Given the description of an element on the screen output the (x, y) to click on. 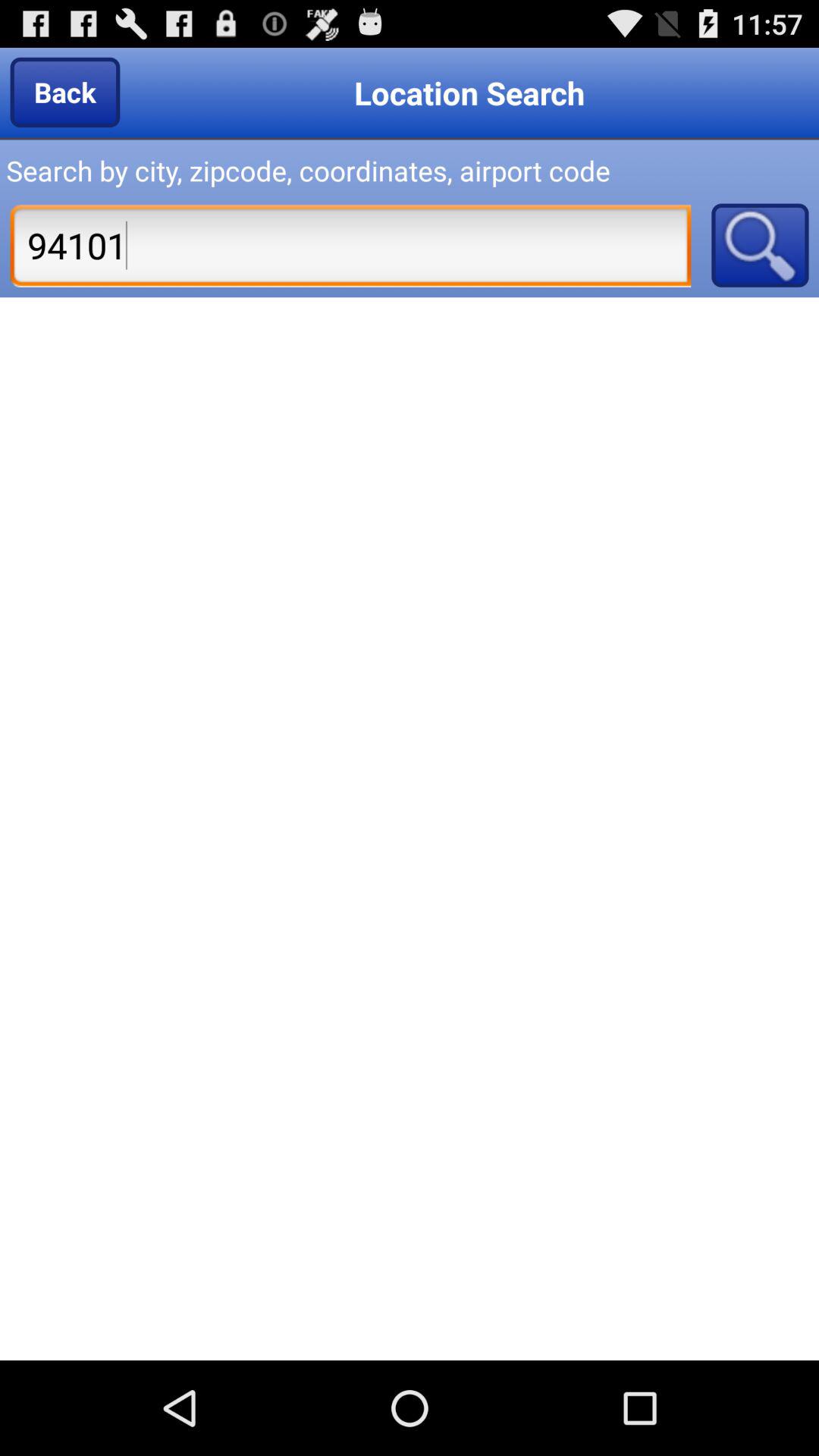
turn on icon below search by city item (350, 245)
